Given the description of an element on the screen output the (x, y) to click on. 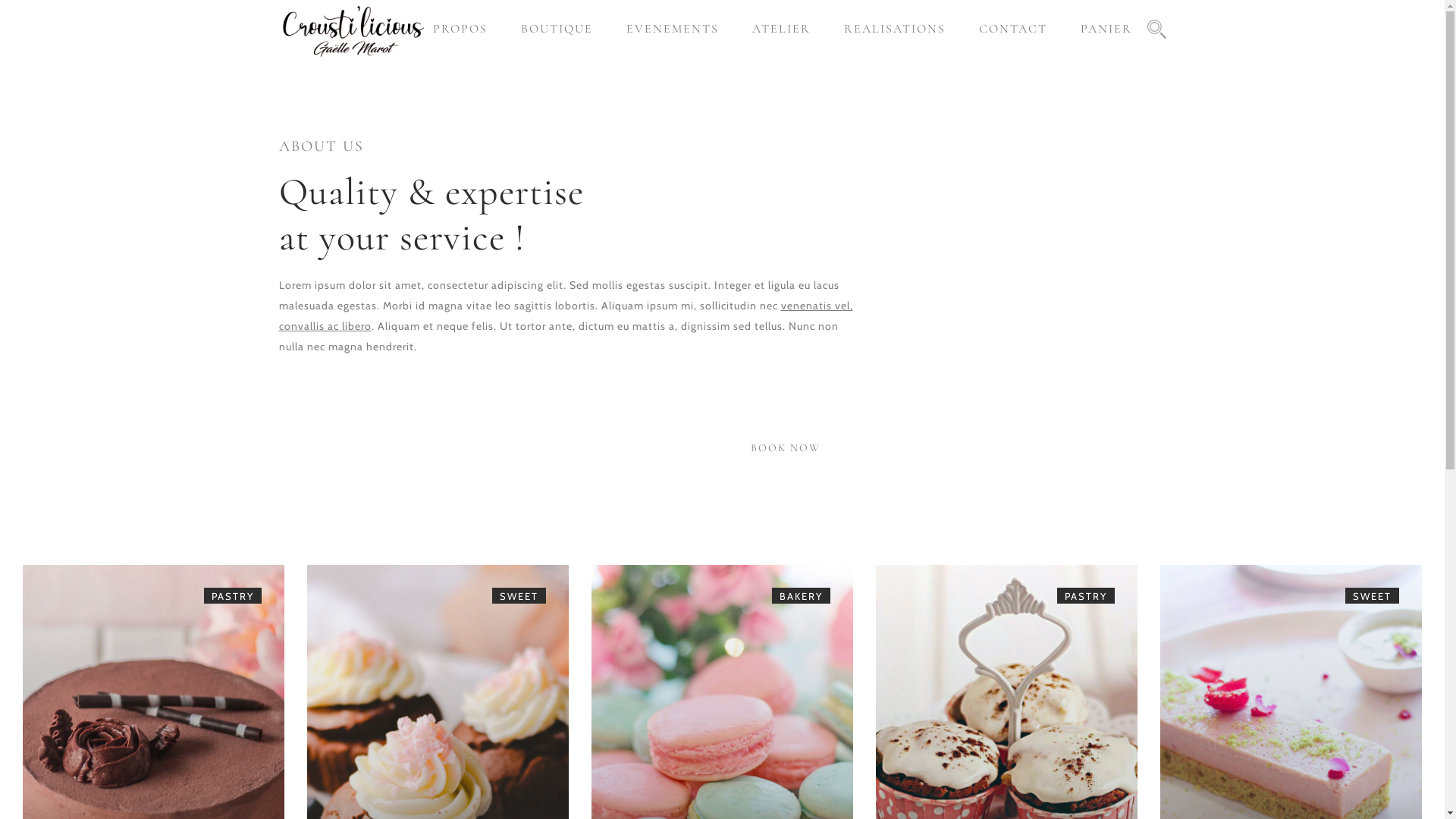
REALISATIONS Element type: text (893, 28)
CONTACT Element type: text (1012, 28)
BAKERY Element type: text (800, 595)
SWEET Element type: text (1372, 595)
PANIER Element type: text (1105, 28)
PASTRY Element type: text (232, 595)
SWEET Element type: text (519, 595)
EVENEMENTS Element type: text (672, 28)
BOOK NOW Element type: text (785, 448)
ATELIER Element type: text (781, 28)
Chercher Element type: text (881, 409)
BOUTIQUE Element type: text (556, 28)
PASTRY Element type: text (1085, 595)
